Given the description of an element on the screen output the (x, y) to click on. 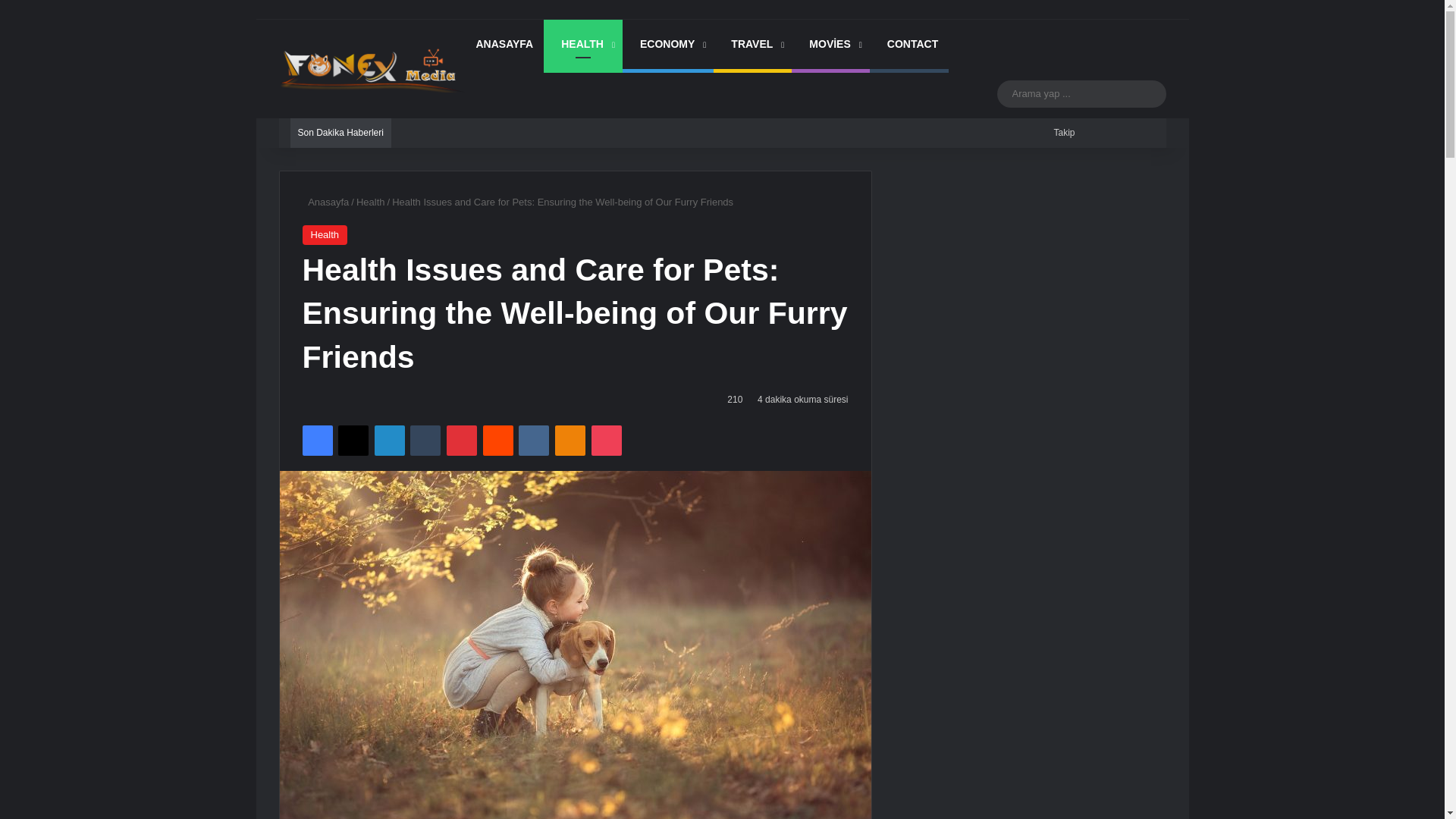
Arama yap ... (1080, 93)
LinkedIn (389, 440)
Takip (1061, 132)
Pocket (606, 440)
Facebook (316, 440)
LinkedIn (389, 440)
Pinterest (461, 440)
ECONOMY (668, 43)
MOVIES (830, 43)
Health (324, 234)
